Given the description of an element on the screen output the (x, y) to click on. 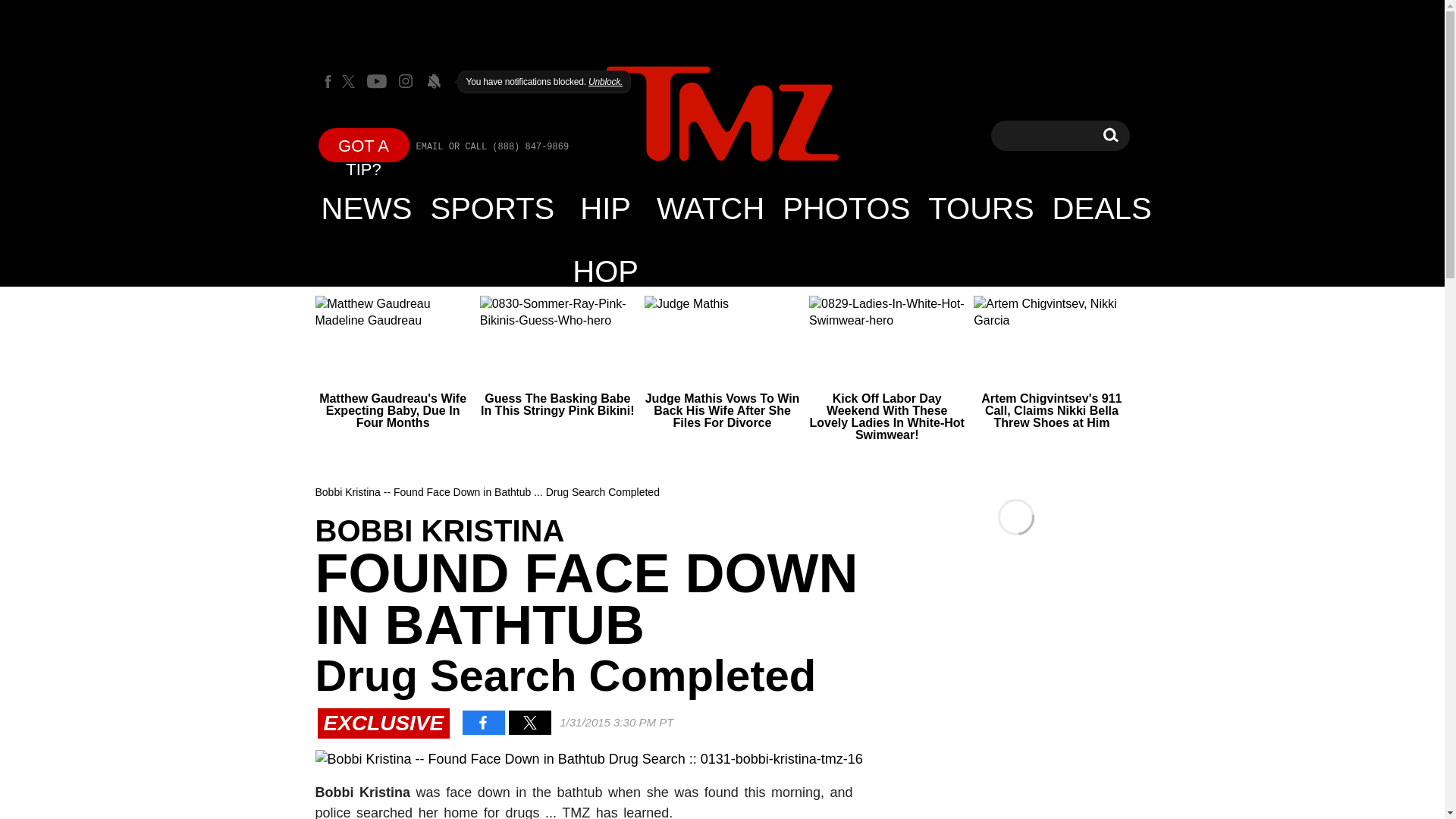
PHOTOS (845, 207)
TOURS (980, 207)
DEALS (1101, 207)
HIP HOP (605, 207)
SPORTS (493, 207)
TMZ (722, 115)
Search (1110, 134)
TMZ (722, 113)
WATCH (710, 207)
